Given the description of an element on the screen output the (x, y) to click on. 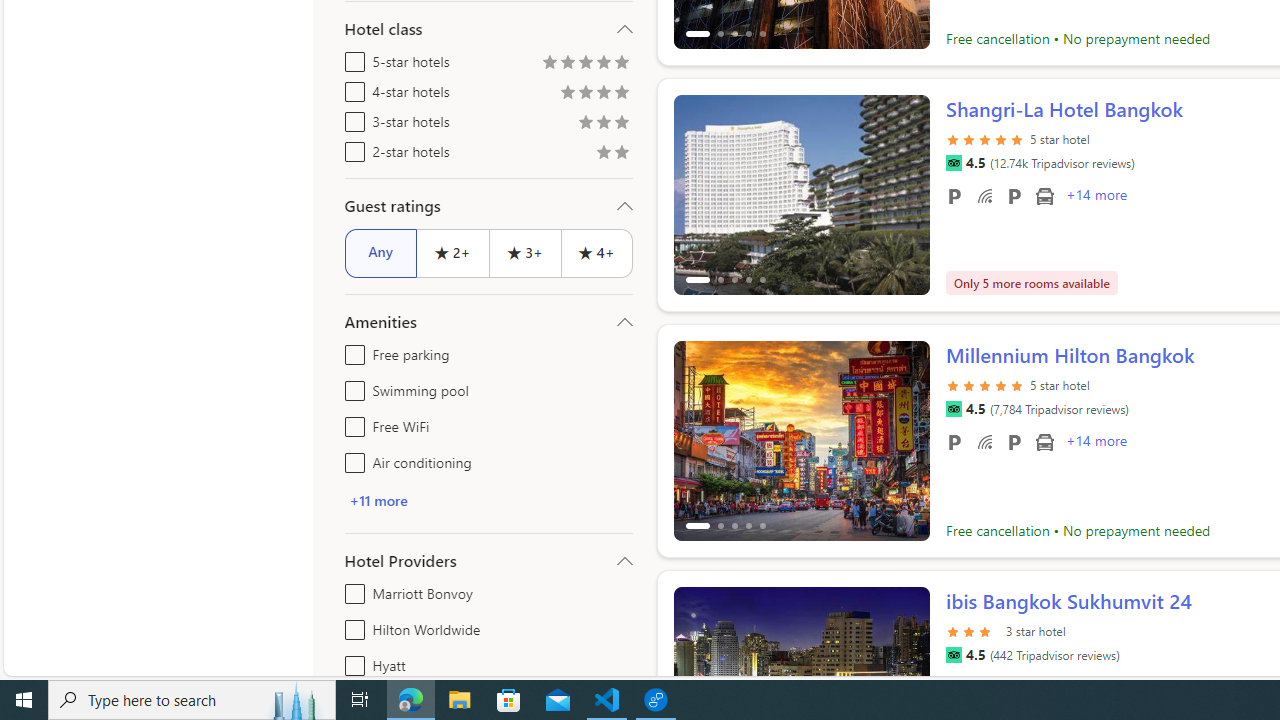
Amenities (488, 321)
3+ (523, 252)
Slide 1 (801, 440)
4-star hotels (351, 88)
Free parking (351, 350)
Airport transportation (1044, 441)
2+ (452, 252)
Marriott Bonvoy (351, 589)
Hyatt (351, 661)
Hotel Providers (488, 560)
ScrollRight (905, 678)
+14 More Amenities (1095, 443)
Swimming pool (351, 386)
Tripadvisor (953, 655)
Valet parking (1014, 441)
